Given the description of an element on the screen output the (x, y) to click on. 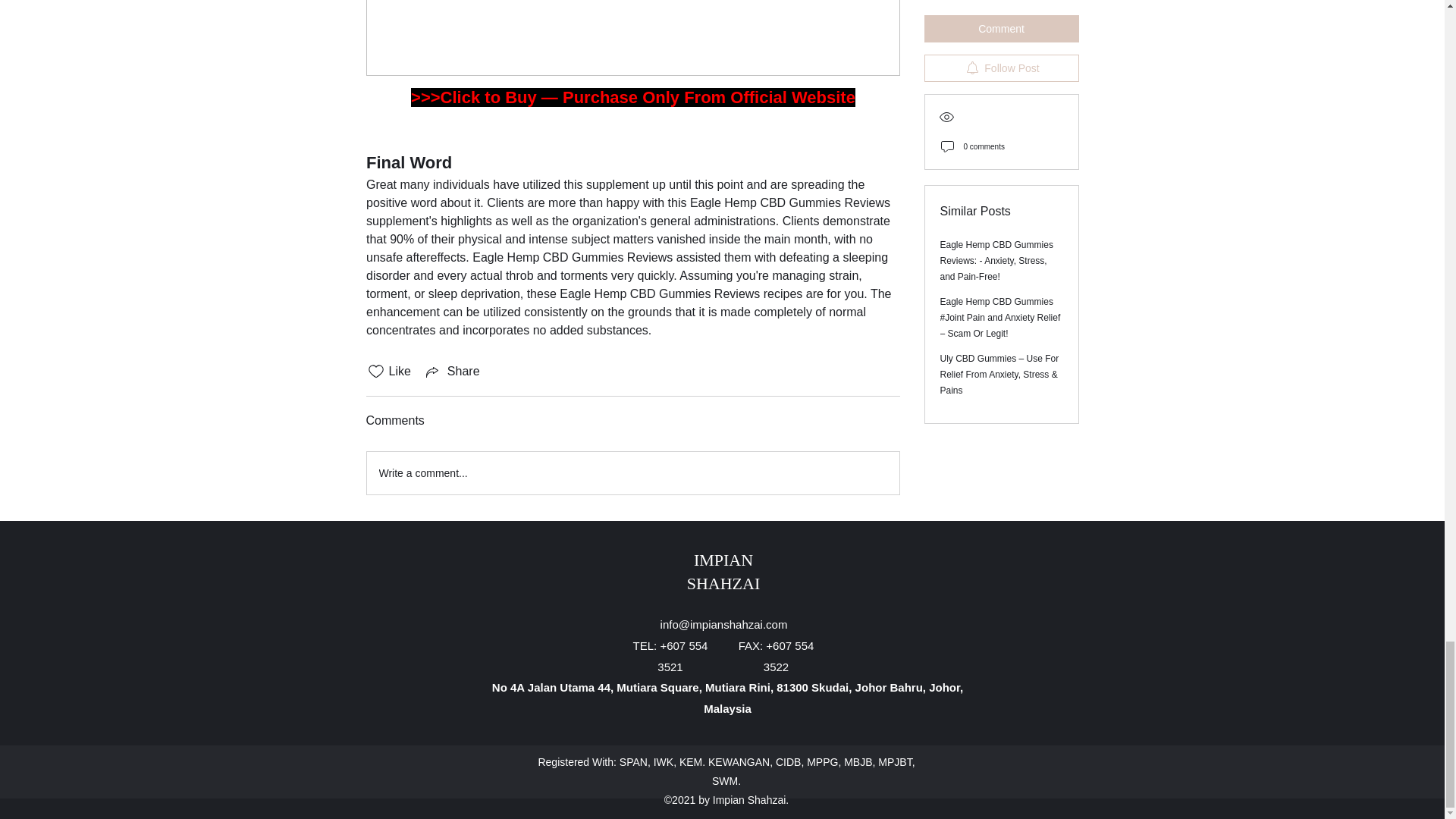
Share (451, 371)
Write a comment... (632, 473)
